Given the description of an element on the screen output the (x, y) to click on. 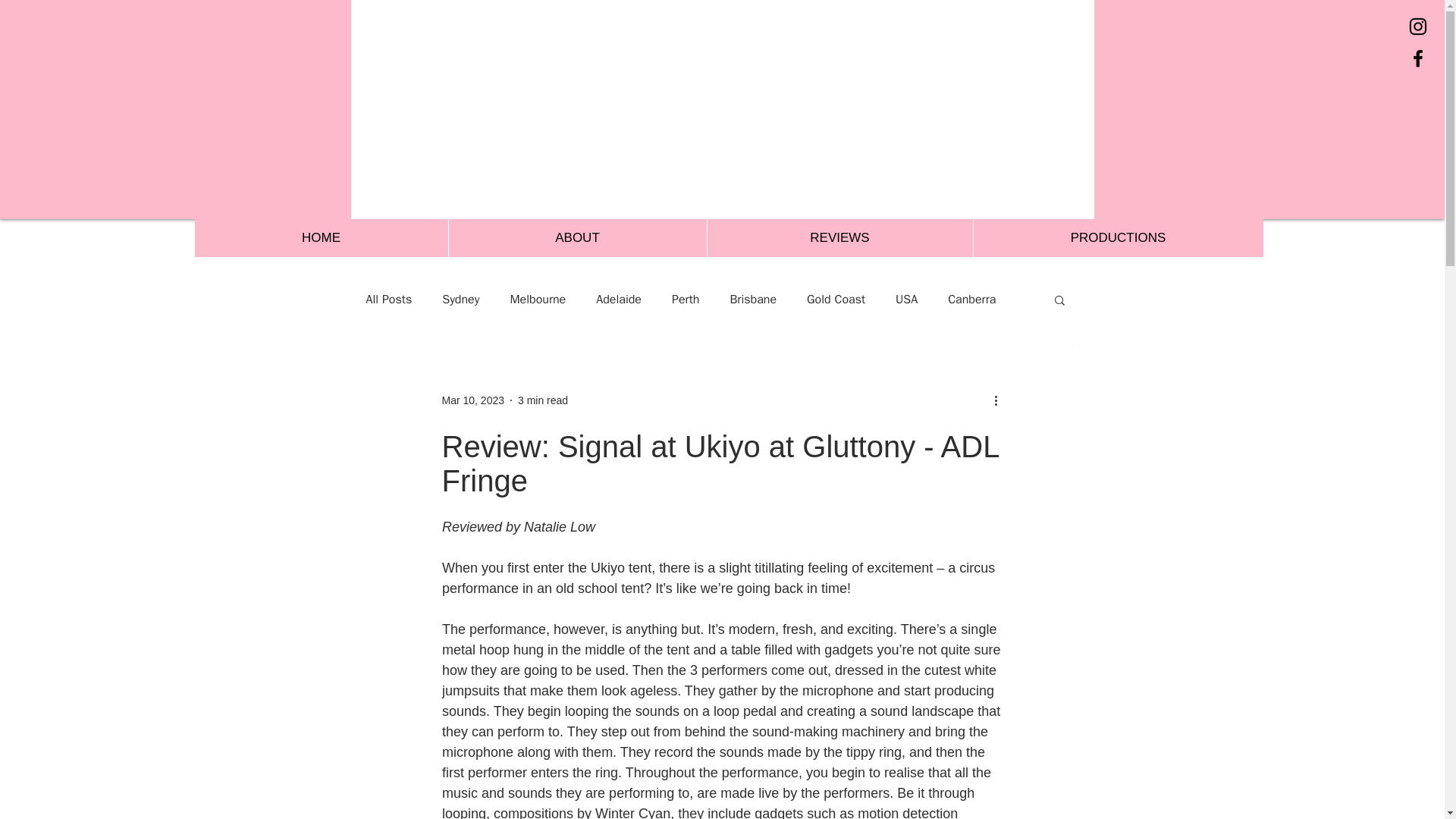
REVIEWS (839, 238)
Mar 10, 2023 (472, 399)
Brisbane (752, 299)
Gold Coast (835, 299)
USA (906, 299)
Adelaide (618, 299)
3 min read (542, 399)
Perth (684, 299)
Canberra (971, 299)
Melbourne (537, 299)
